Given the description of an element on the screen output the (x, y) to click on. 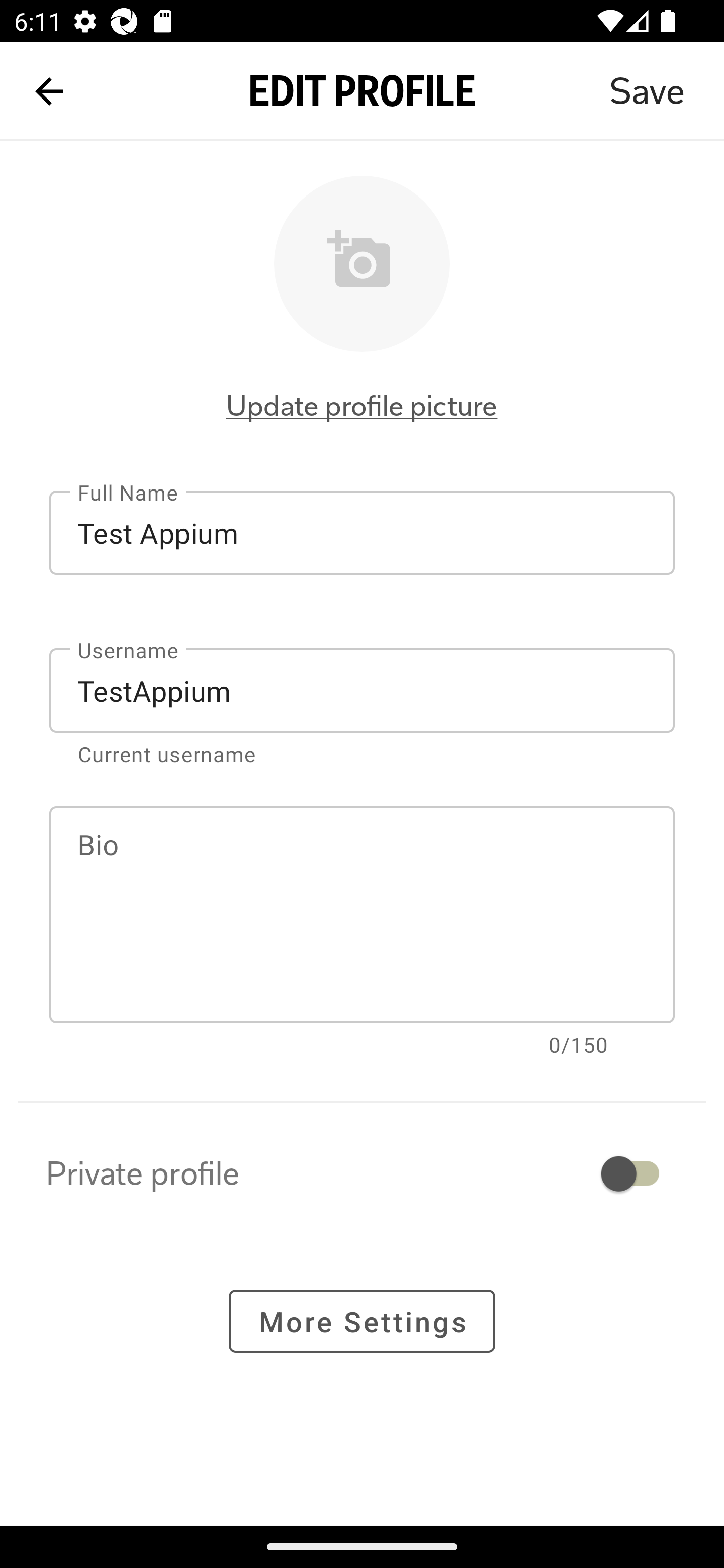
Back (49, 91)
Save (646, 91)
Update profile picture (361, 405)
Test Appium (361, 532)
TestAppium (361, 689)
Bio (361, 914)
Private profile (361, 1173)
More Settings (361, 1321)
